Given the description of an element on the screen output the (x, y) to click on. 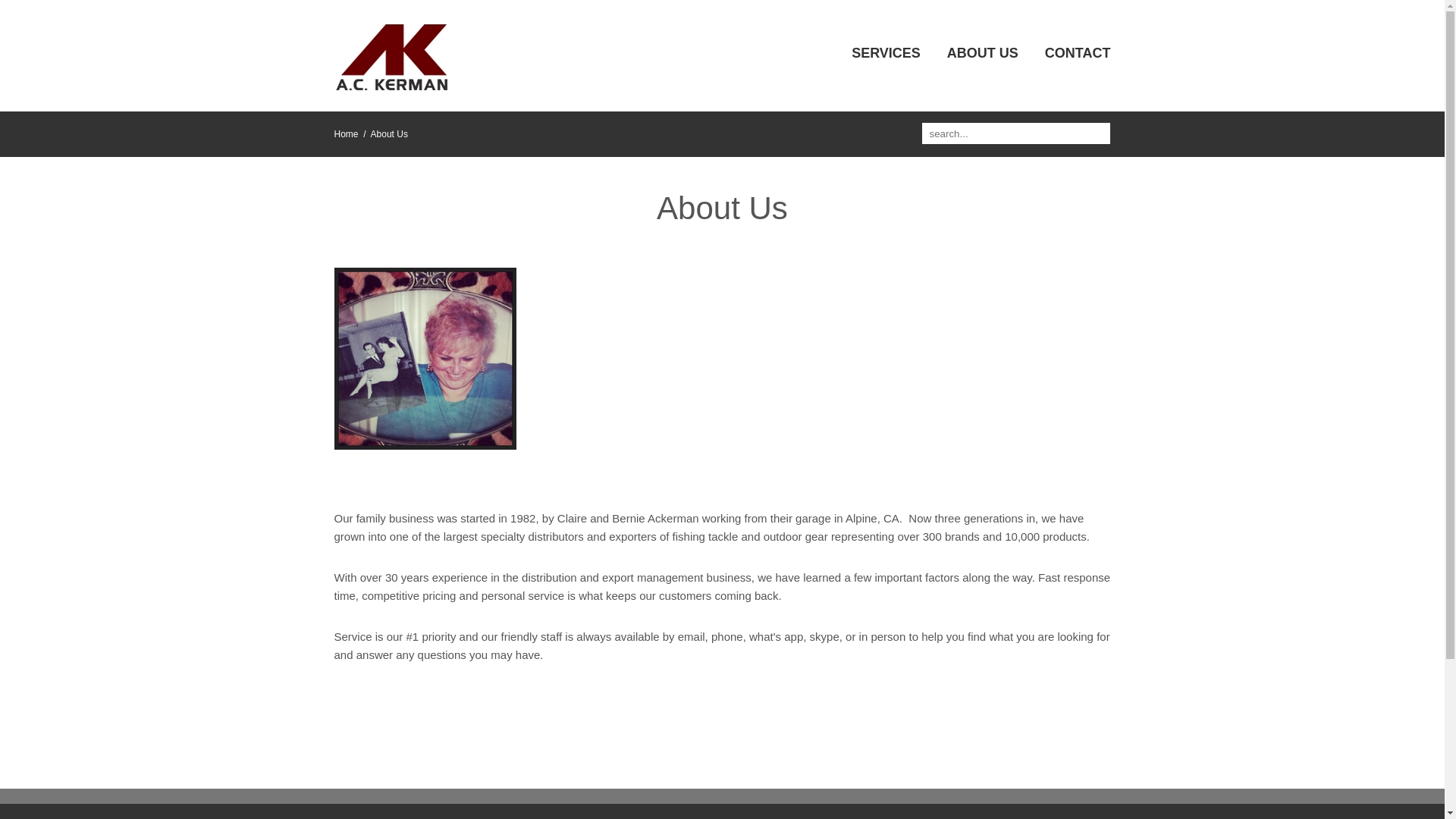
Home (345, 133)
ABOUT US (982, 52)
Search (1098, 132)
A.C. Kerman, Inc. (389, 57)
Search (1098, 132)
SERVICES (885, 52)
CONTACT (1077, 52)
